Given the description of an element on the screen output the (x, y) to click on. 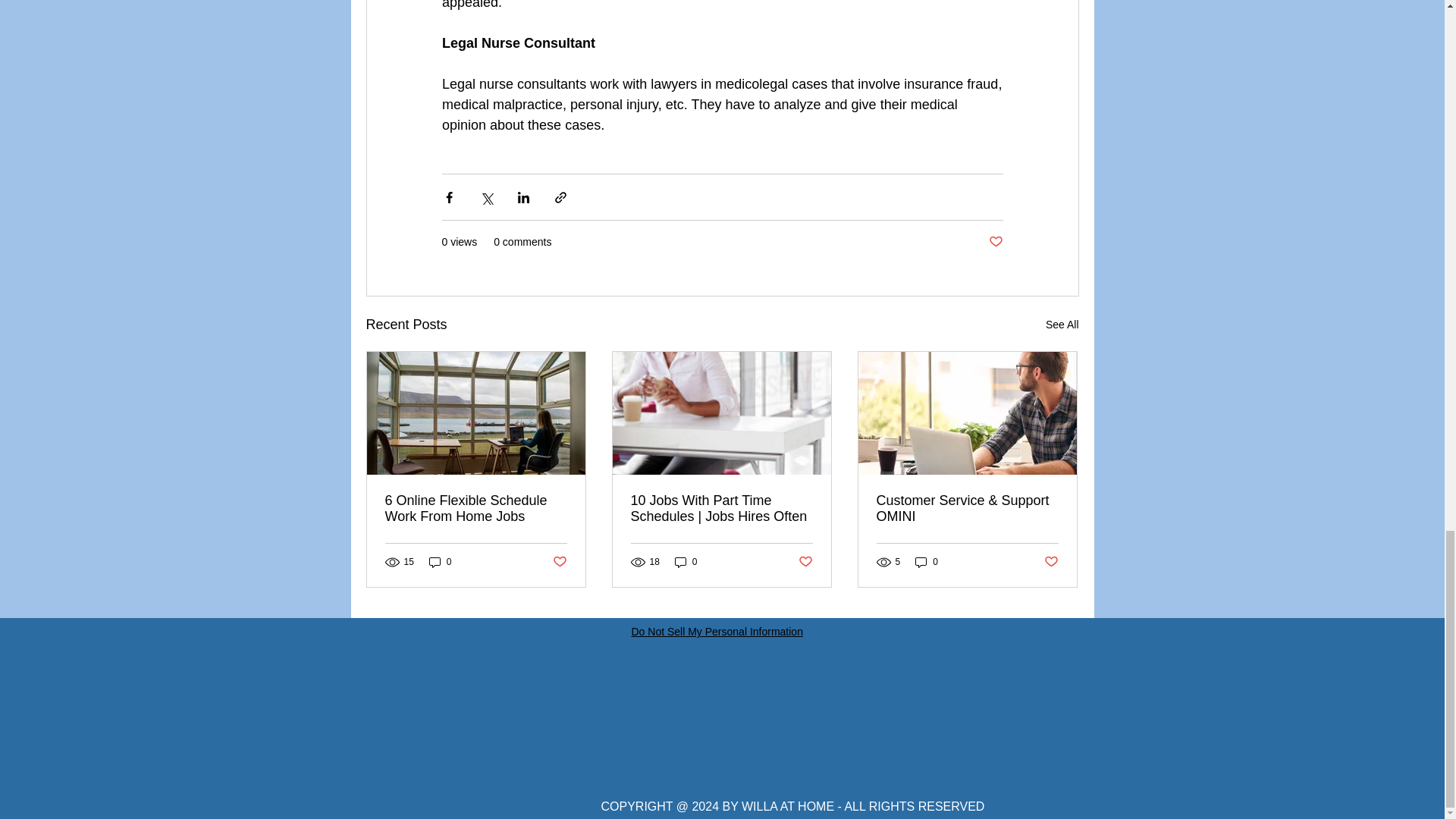
Post not marked as liked (995, 242)
See All (1061, 324)
